Given the description of an element on the screen output the (x, y) to click on. 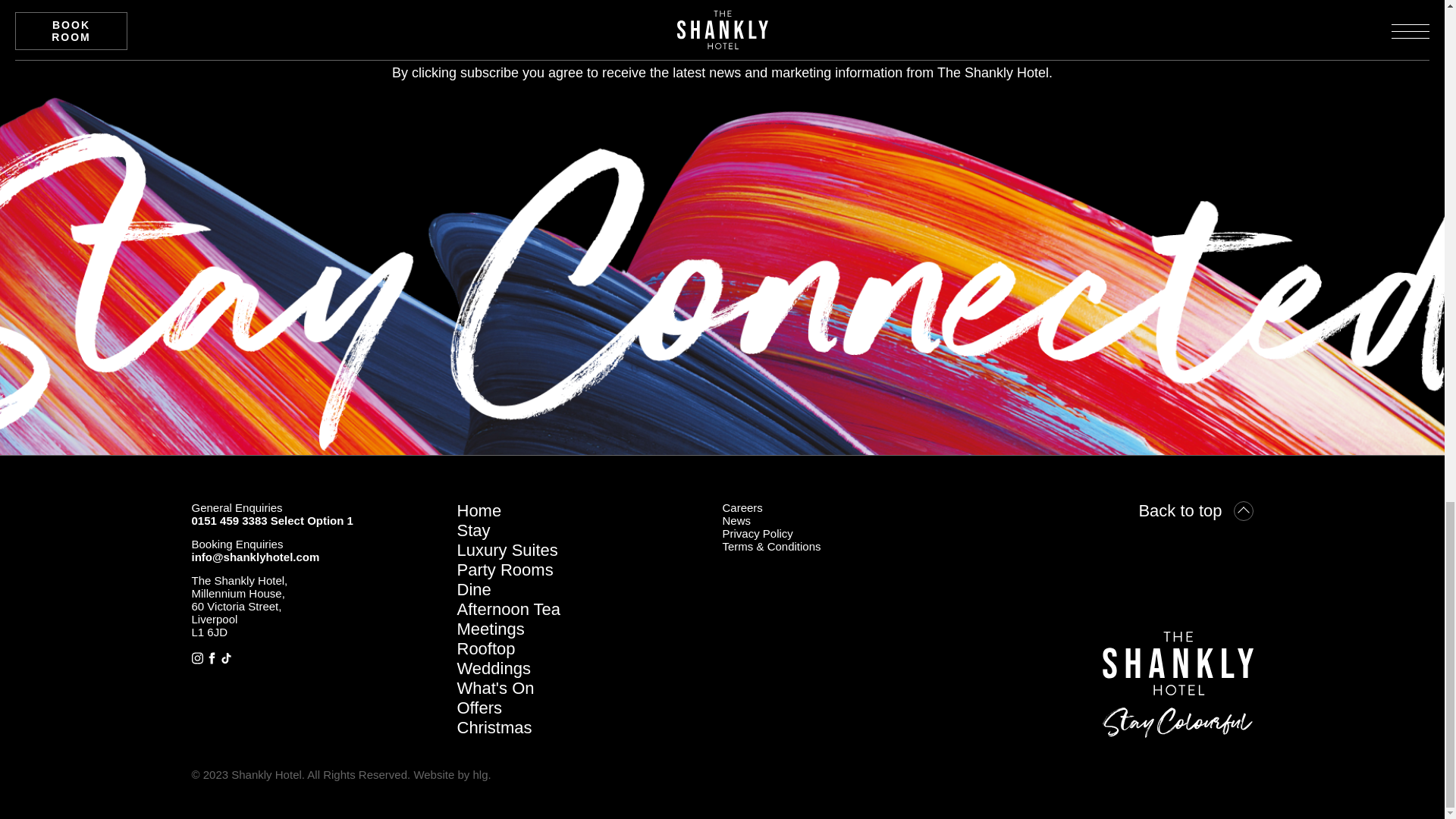
0151 459 3383 Select Option 1 (271, 520)
SUBSCRIBE (273, 13)
